Given the description of an element on the screen output the (x, y) to click on. 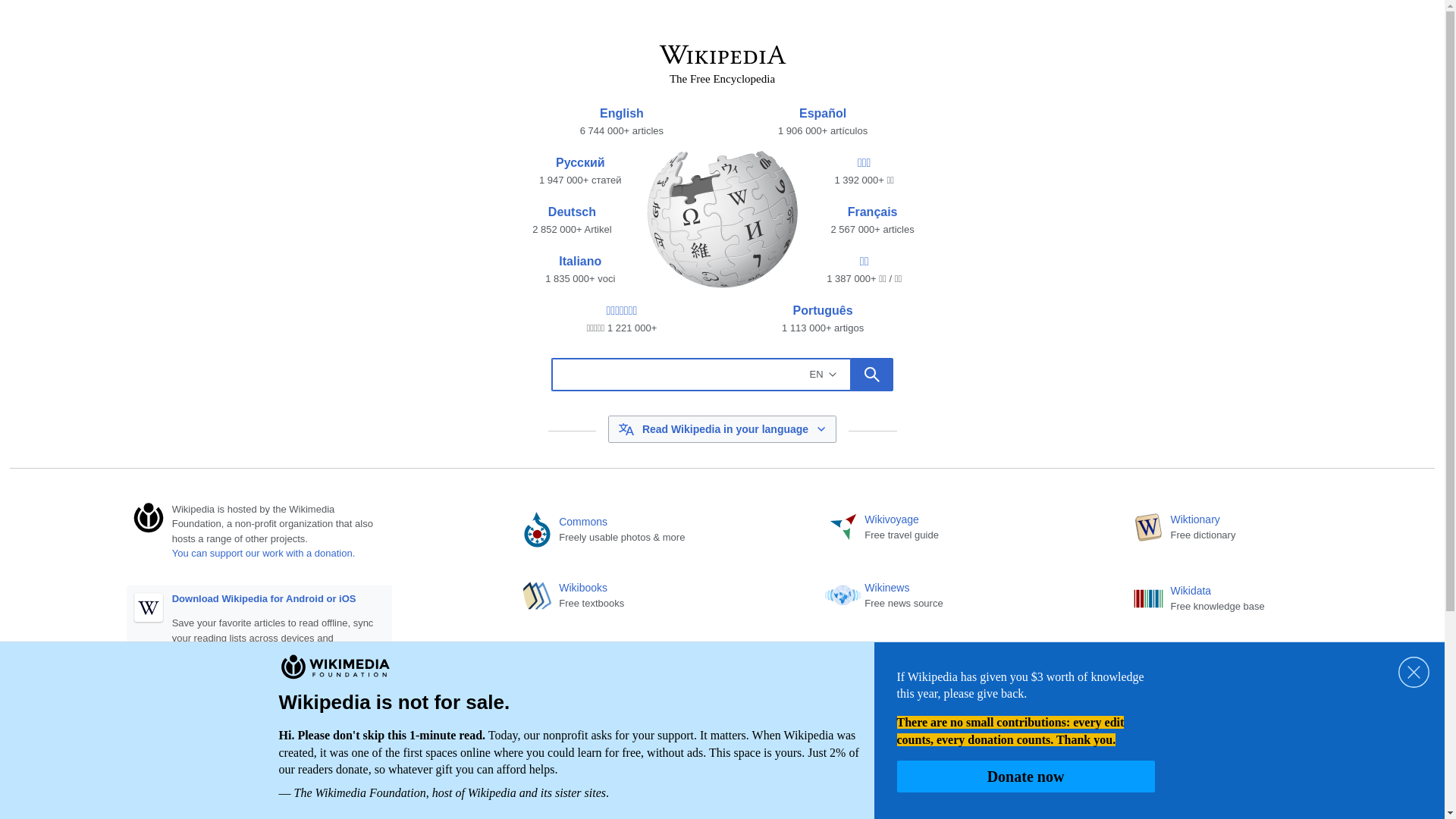
Download Wikipedia for Android or iOS Element type: text (264, 598)
English
6 744 000+ articles Element type: text (621, 121)
Donate now Element type: text (1025, 776)
Wikiquote
Free quote compendium Element type: text (961, 667)
Commons
Freely usable photos & more Element type: text (655, 530)
Google Play Store Element type: text (219, 698)
Wikispecies
Free species directory Element type: text (961, 735)
Wikivoyage
Free travel guide Element type: text (961, 530)
Wikisource
Free library Element type: text (655, 735)
Wikibooks
Free textbooks Element type: text (655, 598)
Wikiversity
Free course materials Element type: text (655, 667)
MediaWiki
Free & open wiki application Element type: text (1267, 667)
Wikidata
Free knowledge base Element type: text (1267, 598)
Wikinews
Free news source Element type: text (961, 598)
Wiktionary
Free dictionary Element type: text (1267, 530)
Apple App Store Element type: text (309, 698)
Italiano
1 835 000+ voci Element type: text (579, 269)
Search Element type: text (871, 374)
Deutsch
2 852 000+ Artikel Element type: text (571, 220)
Wikifunctions
Free function library Element type: text (1267, 735)
You can support our work with a donation. Element type: text (263, 552)
Read Wikipedia in your language Element type: text (722, 428)
